Given the description of an element on the screen output the (x, y) to click on. 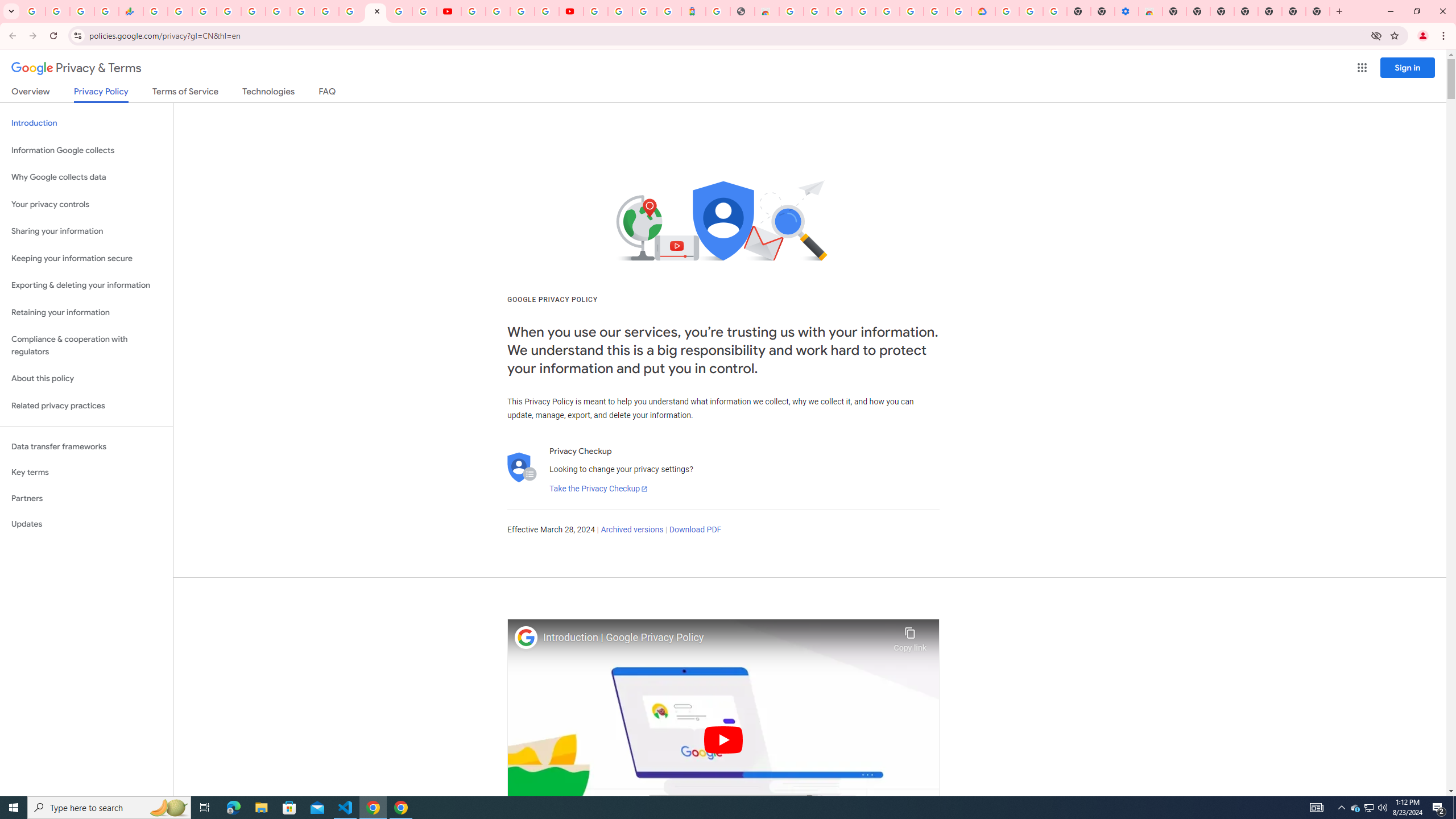
Ad Settings (814, 11)
Chrome Web Store - Accessibility extensions (1150, 11)
Copy link (909, 636)
Your privacy controls (86, 204)
YouTube (325, 11)
Chrome Web Store - Household (766, 11)
Exporting & deleting your information (86, 284)
Privacy Checkup (424, 11)
New Tab (1174, 11)
Take the Privacy Checkup (597, 488)
